Given the description of an element on the screen output the (x, y) to click on. 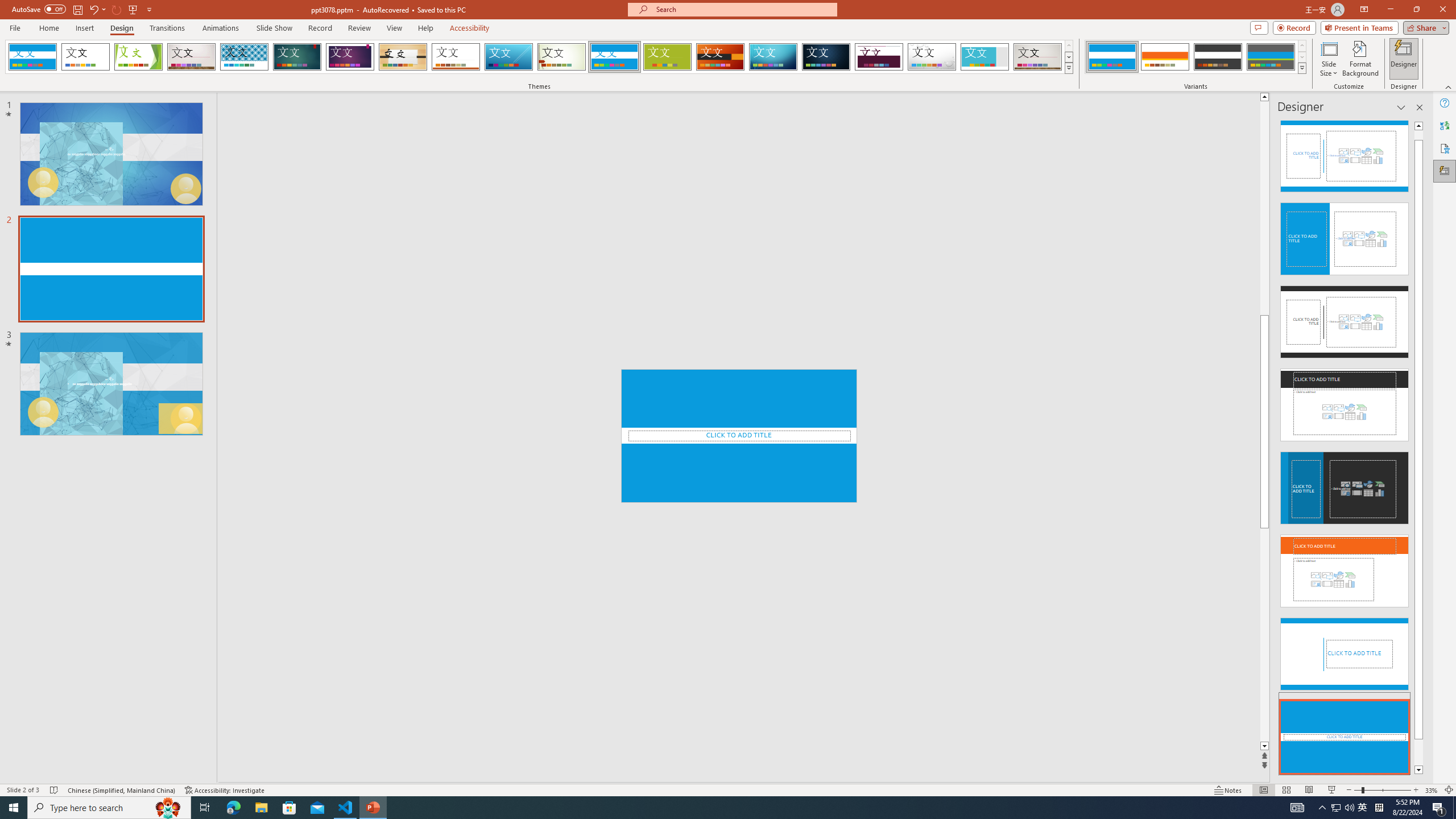
Wisp (561, 56)
Basis (667, 56)
Slide Size (1328, 58)
Variants (1301, 67)
Retrospect (455, 56)
